Given the description of an element on the screen output the (x, y) to click on. 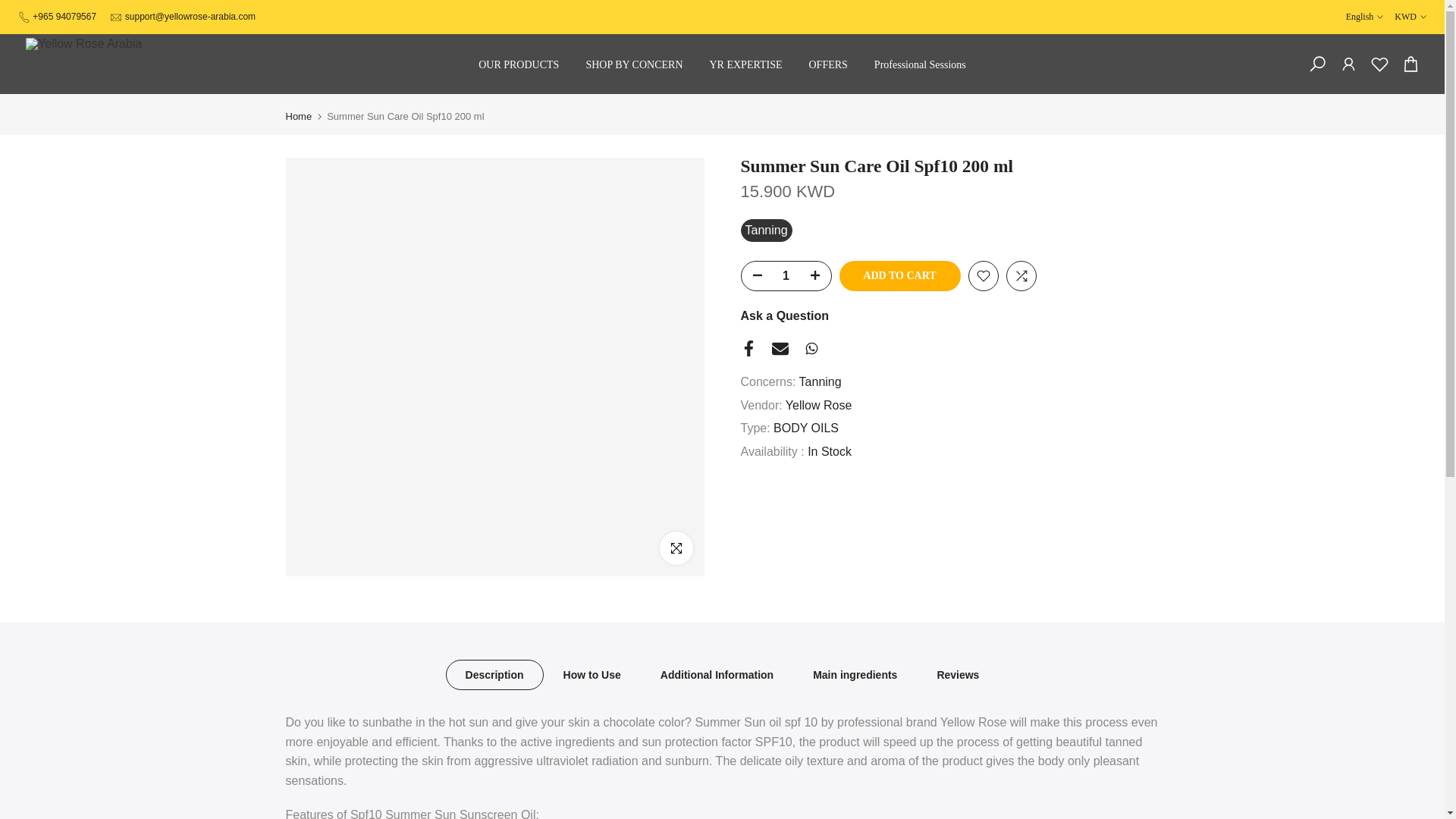
OUR PRODUCTS (518, 65)
SHOP BY CONCERN (633, 65)
OFFERS (827, 65)
Skip to content (10, 7)
Ask a Question (783, 315)
YR EXPERTISE (744, 65)
Share on Email (780, 348)
Share on Facebook (747, 348)
Share on WhatsApp (811, 348)
English (1364, 16)
